Given the description of an element on the screen output the (x, y) to click on. 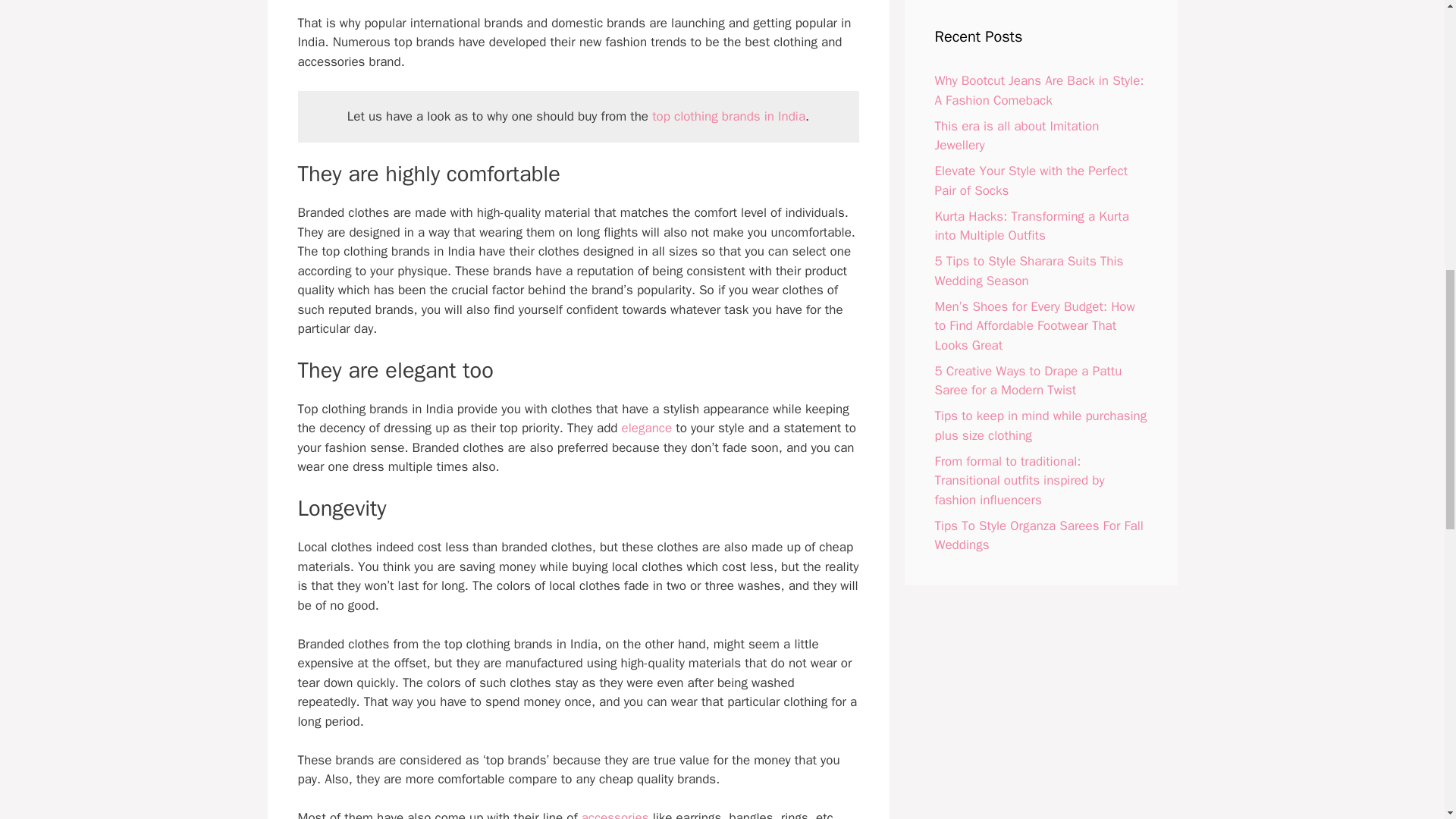
top clothing brands in India (728, 116)
accessories (614, 814)
elegance (646, 427)
